Given the description of an element on the screen output the (x, y) to click on. 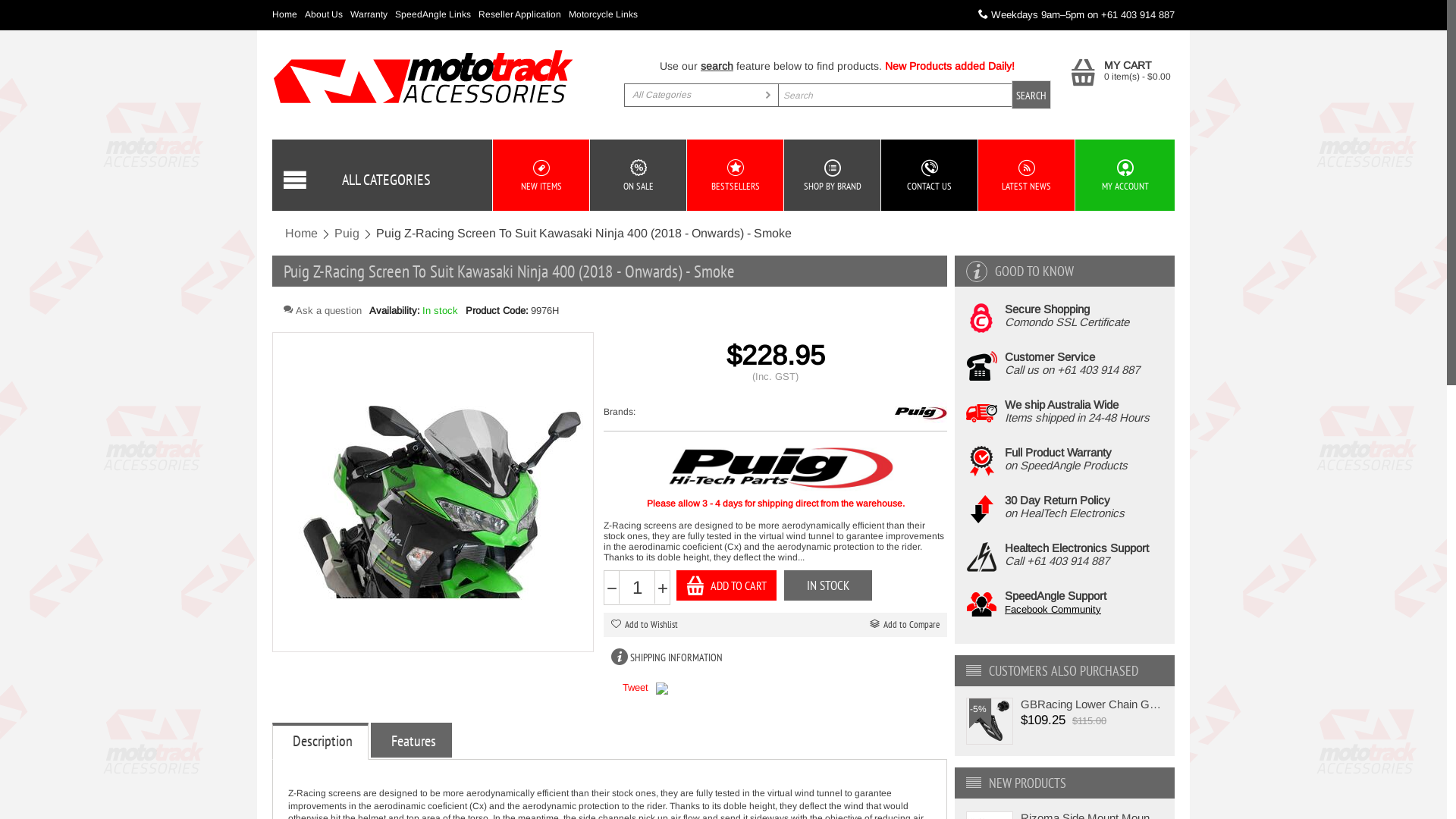
MY ACCOUNT Element type: text (1124, 175)
MY CART
0 item(s) - $0.00 Element type: text (1120, 70)
Add to Compare Element type: text (904, 624)
Description Element type: text (321, 740)
Home Element type: text (286, 14)
Tweet Element type: text (635, 687)
Facebook Community Element type: text (1052, 609)
BESTSELLERS Element type: text (735, 174)
NEW ITEMS Element type: text (540, 174)
Search Element type: text (1031, 94)
Add to Wishlist Element type: text (644, 624)
Puig Element type: text (346, 233)
Ask a question Element type: text (322, 310)
ADD TO CART Element type: text (726, 585)
Reseller Application Element type: text (521, 14)
About Us Element type: text (325, 14)
Mototrack Accessories Element type: hover (423, 76)
SpeedAngle Links Element type: text (434, 14)
Home Element type: text (301, 233)
+ Element type: text (662, 587)
SHOP BY BRAND Element type: text (832, 174)
Search Element type: hover (837, 94)
+61 403 914 887 Element type: text (1137, 14)
Mototrack Accessories Element type: hover (423, 75)
Motorcycle Links Element type: text (602, 14)
ON SALE Element type: text (637, 174)
Warranty Element type: text (370, 14)
LATEST NEWS Element type: text (1026, 174)
ALL CATEGORIES Element type: text (382, 174)
CONTACT US Element type: text (929, 174)
SHIPPING INFORMATION Element type: text (676, 657)
IN STOCK Element type: text (828, 585)
Features Element type: text (412, 739)
